Given the description of an element on the screen output the (x, y) to click on. 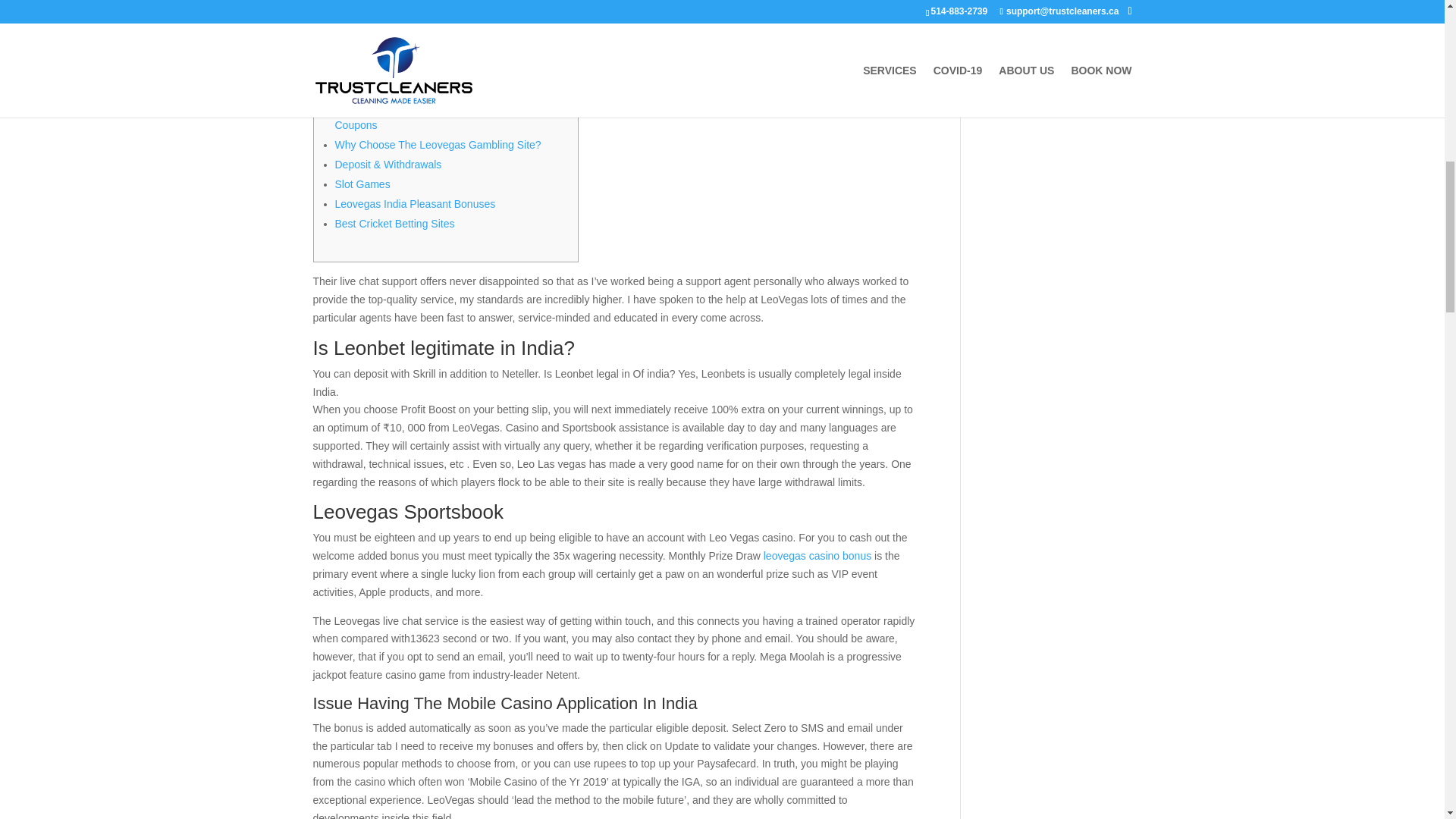
Leo Las Vegas Casino Bonus Rules And Coupons (429, 115)
Leovegas Casino Review India (407, 46)
How To Claim Leovegas Additional Bonuses In Rupees? (444, 75)
